Given the description of an element on the screen output the (x, y) to click on. 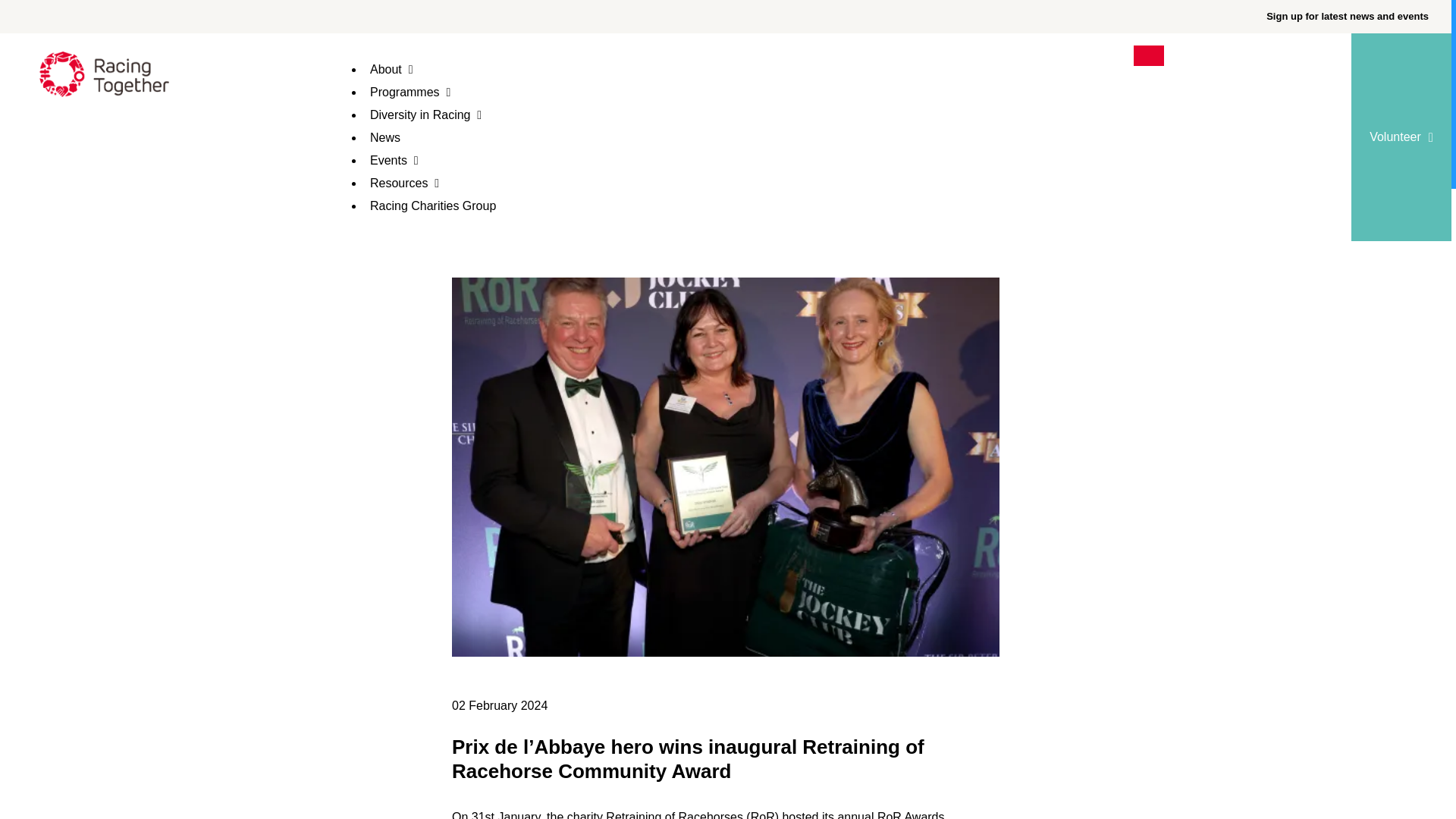
Events (403, 160)
News (394, 137)
Resources (413, 182)
Diversity in Racing (434, 114)
About (401, 69)
Programmes (419, 91)
Sign up for latest news and events (1347, 16)
